Given the description of an element on the screen output the (x, y) to click on. 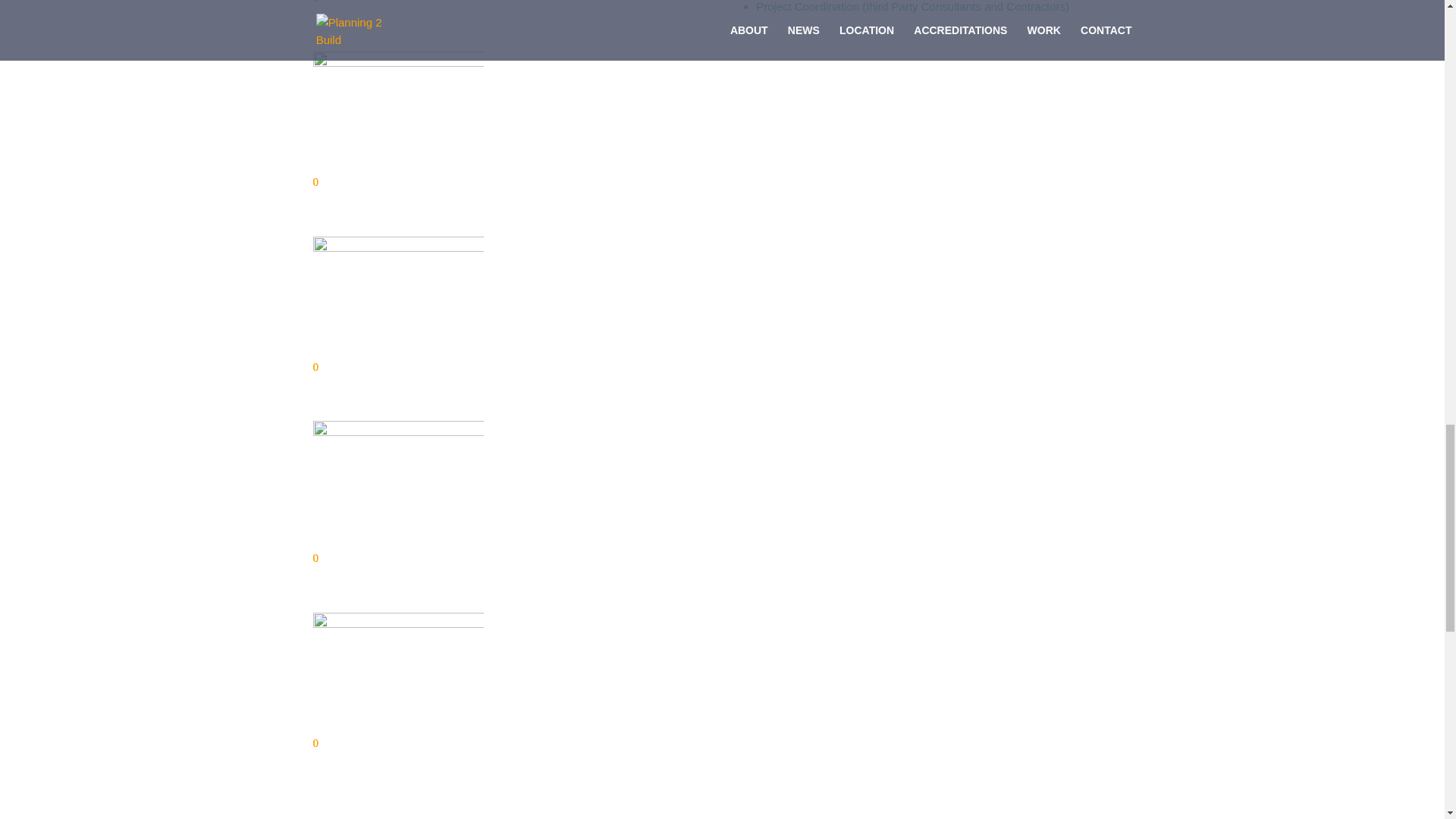
Residential Extension Burnham On Sea, Somerset. (398, 2)
